Given the description of an element on the screen output the (x, y) to click on. 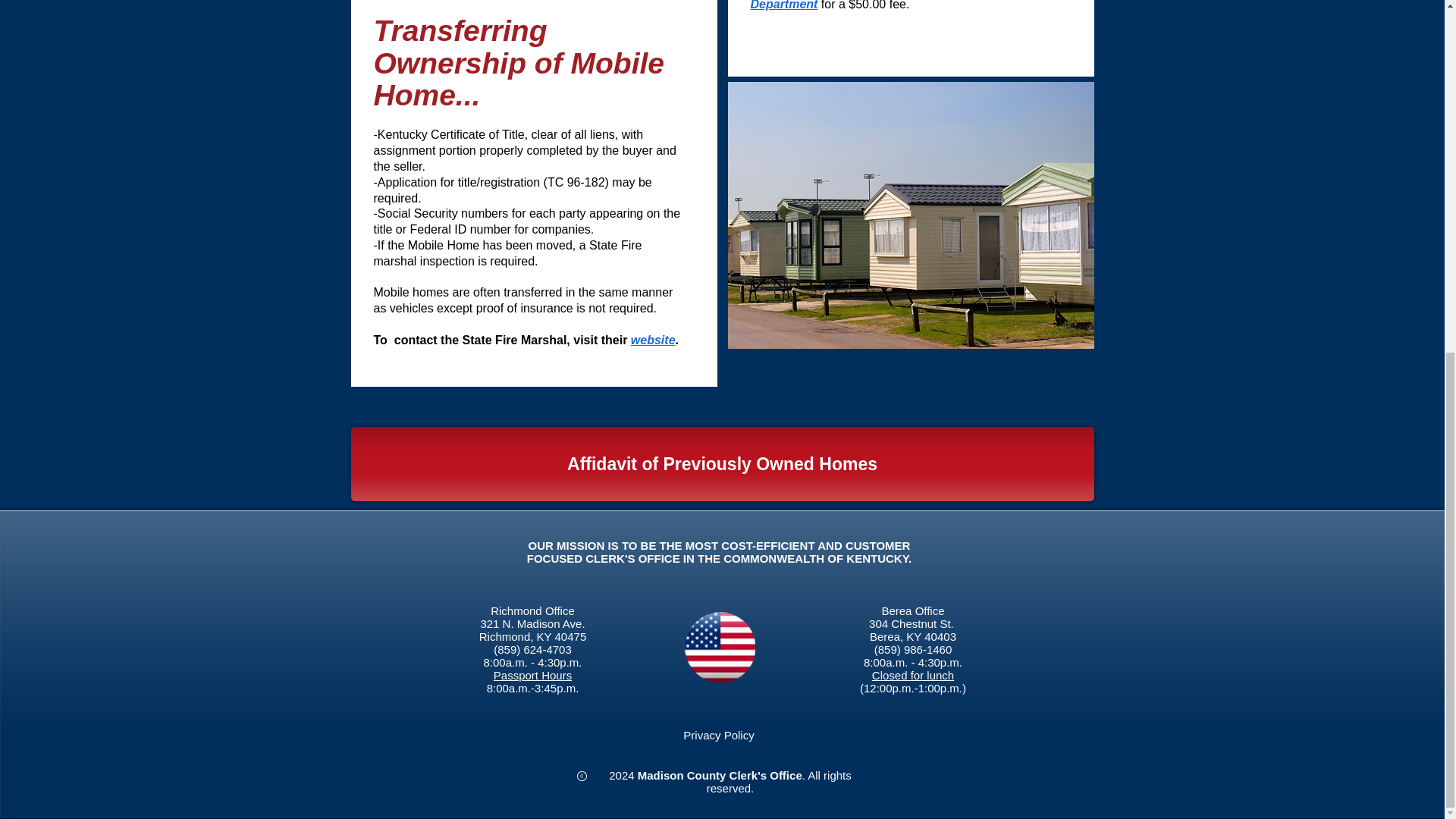
2024 Madison County Clerk's Office. All rights reserved. (729, 781)
website (652, 339)
Recordings Department (889, 5)
Affidavit of Previously Owned Homes (721, 463)
Privacy Policy (718, 735)
